Given the description of an element on the screen output the (x, y) to click on. 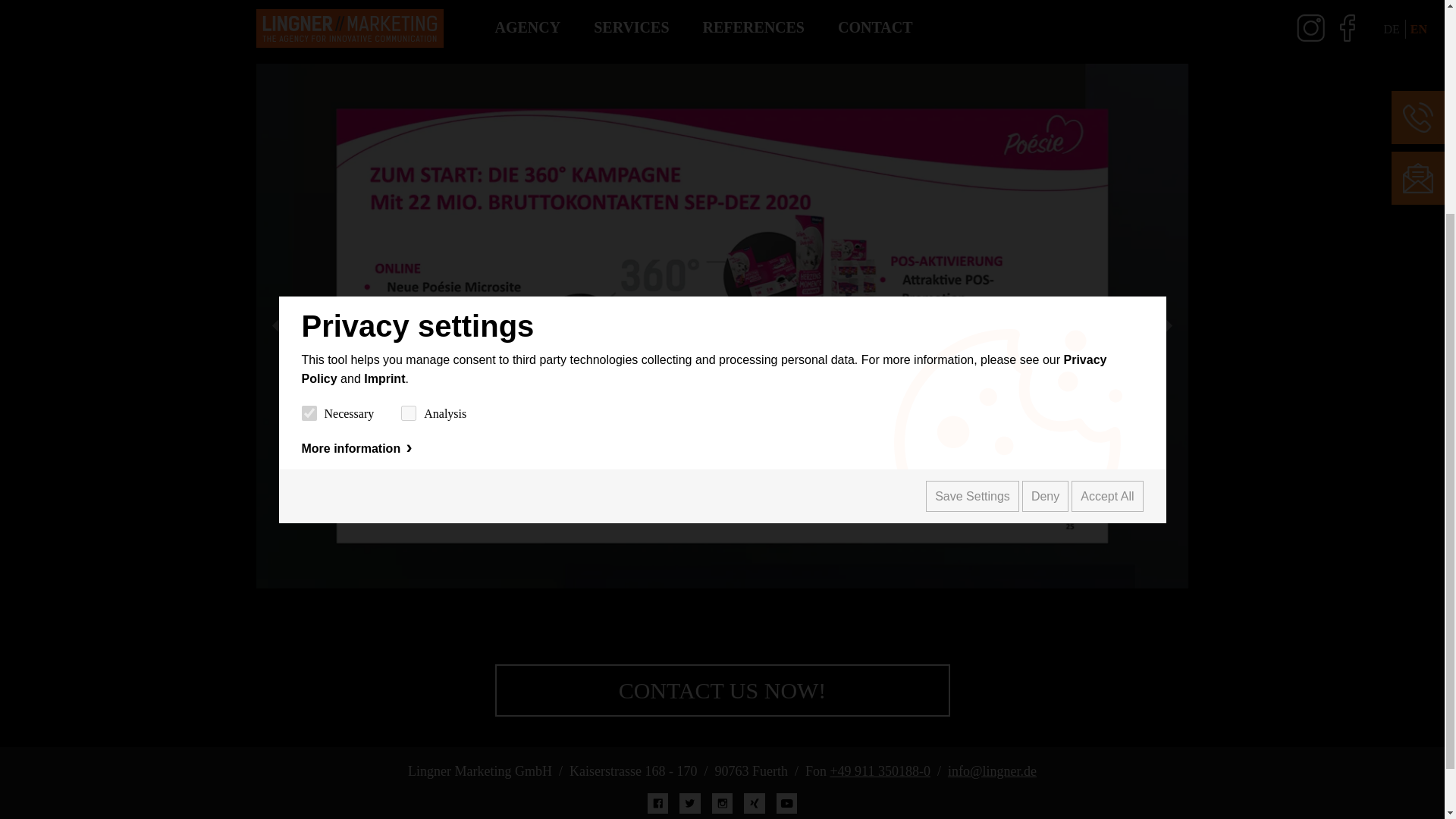
on (309, 114)
Save Settings (972, 196)
on (408, 114)
Accept All (1106, 196)
Deny (1045, 196)
